Given the description of an element on the screen output the (x, y) to click on. 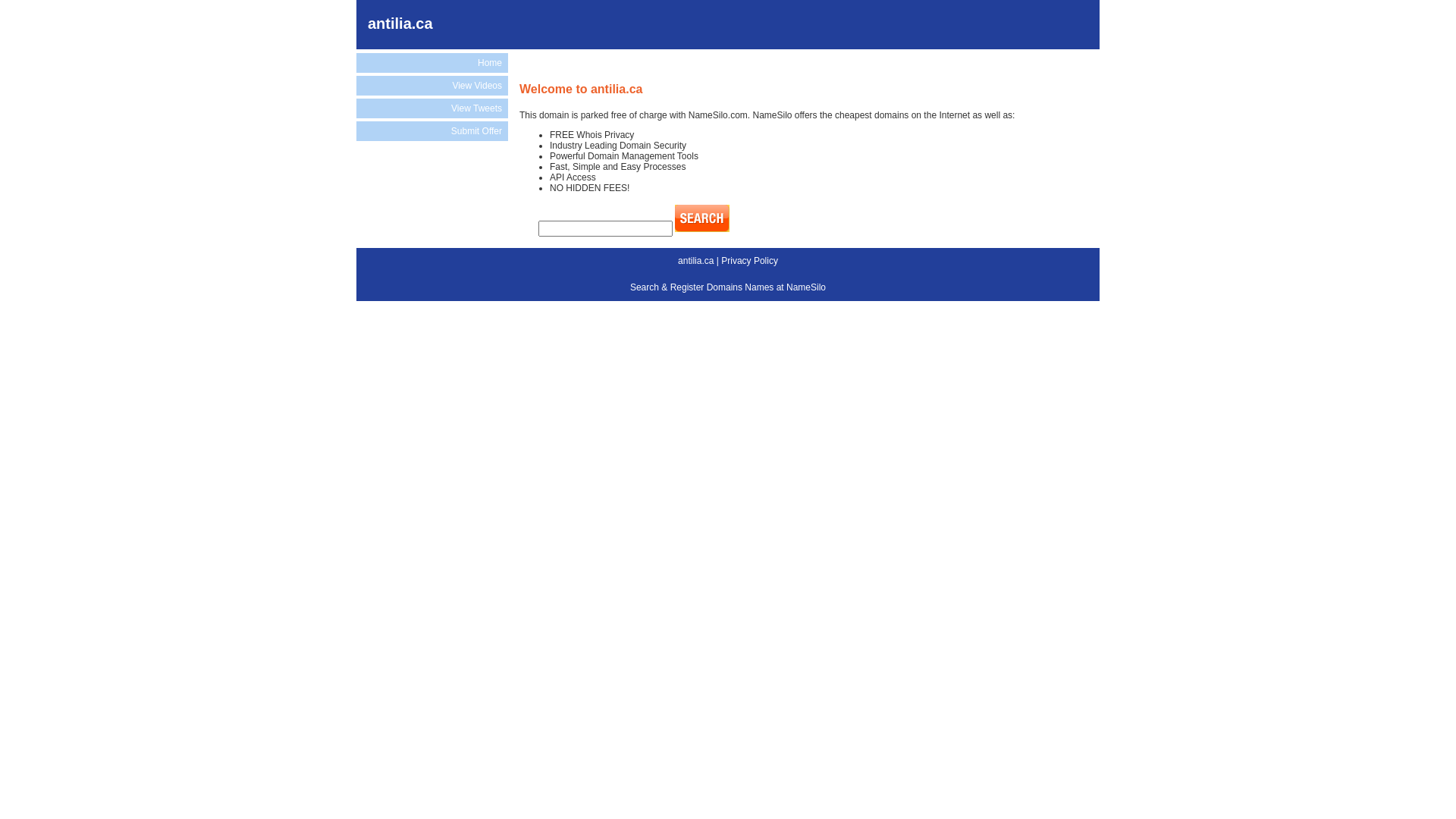
Privacy Policy Element type: text (749, 260)
Submit Offer Element type: text (432, 131)
View Tweets Element type: text (432, 108)
Home Element type: text (432, 62)
Search & Register Domains Names at NameSilo Element type: text (727, 287)
View Videos Element type: text (432, 85)
